Given the description of an element on the screen output the (x, y) to click on. 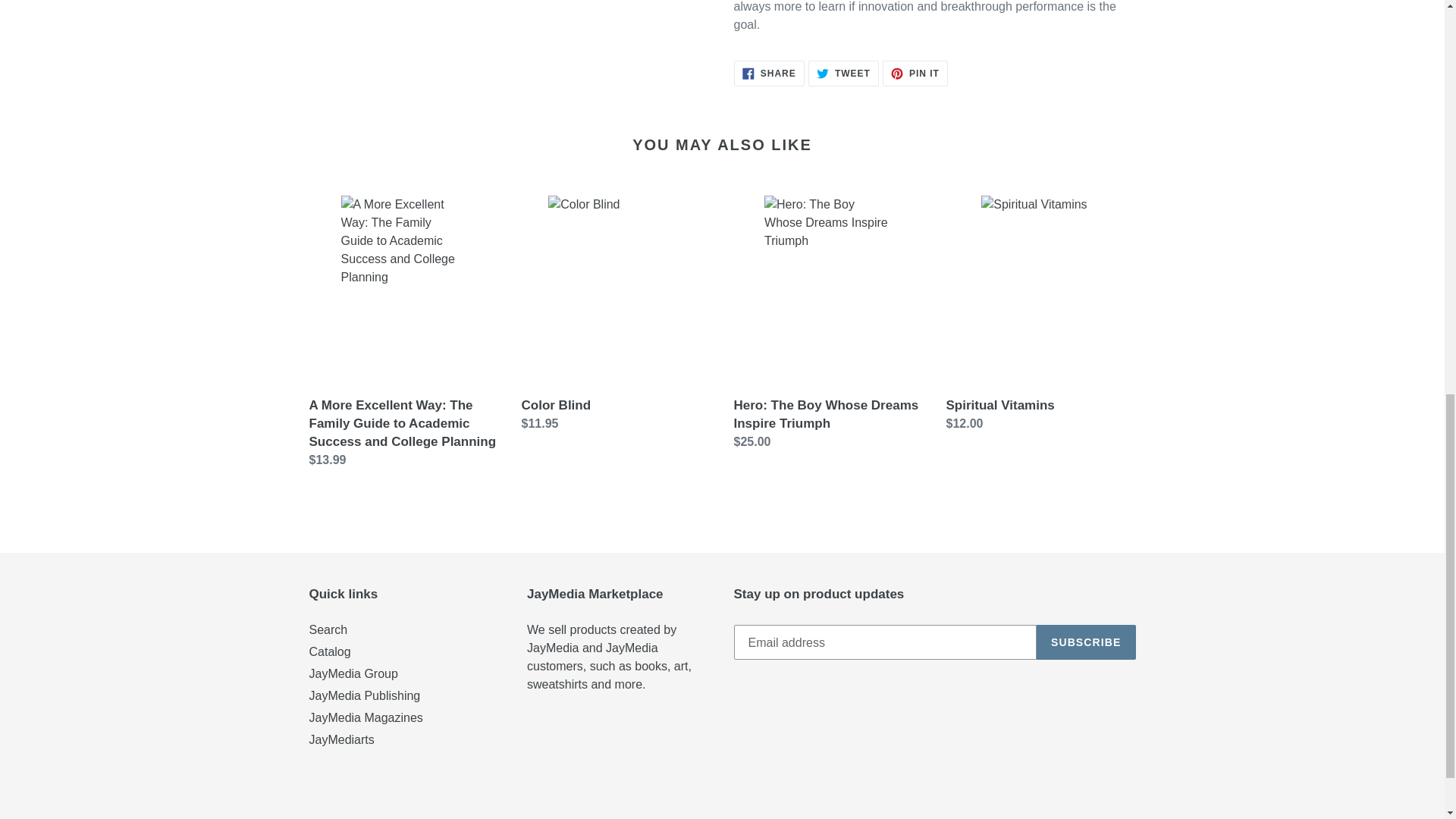
JayMediarts (341, 739)
JayMedia Magazines (365, 717)
Catalog (329, 651)
SUBSCRIBE (843, 73)
JayMedia Group (1085, 642)
Search (769, 73)
JayMedia Publishing (914, 73)
